Given the description of an element on the screen output the (x, y) to click on. 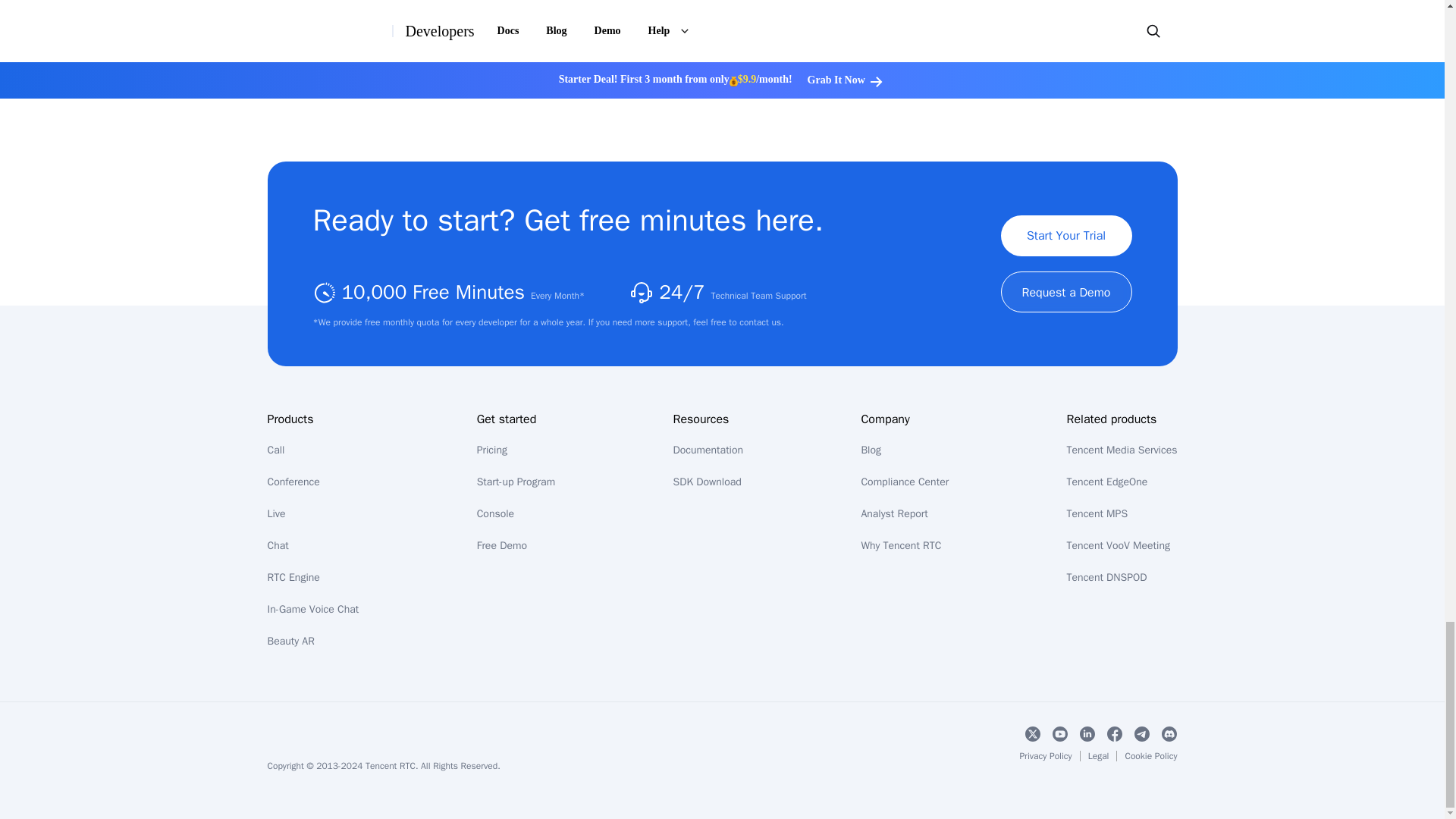
SDK Download (706, 481)
Compliance Center (904, 481)
Live (275, 513)
Console (495, 513)
Pricing (491, 449)
Request a Demo (1066, 291)
Tencent DNSPOD (1107, 576)
Blog (870, 449)
Free Demo (502, 545)
7 Leading Chat Apps Worth Checking Out in 2024 (471, 11)
Tencent VooV Meeting (1118, 545)
Tencent Media Services (1122, 449)
Start Your Trial (1066, 235)
Conference (292, 481)
Conclusion (471, 73)
